Given the description of an element on the screen output the (x, y) to click on. 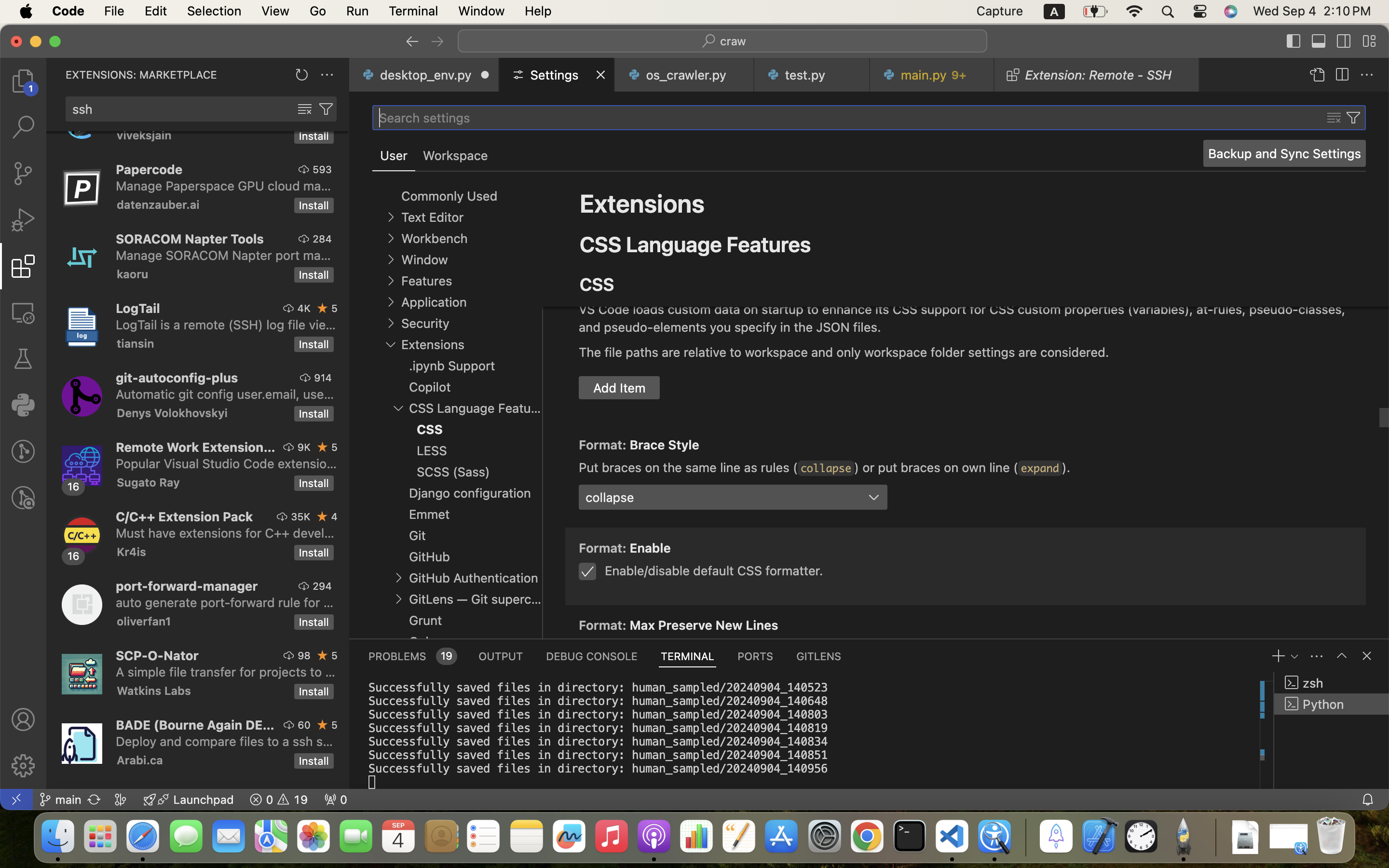
0 main.py   9+ Element type: AXRadioButton (932, 74)
LogTail Element type: AXStaticText (137, 307)
